Given the description of an element on the screen output the (x, y) to click on. 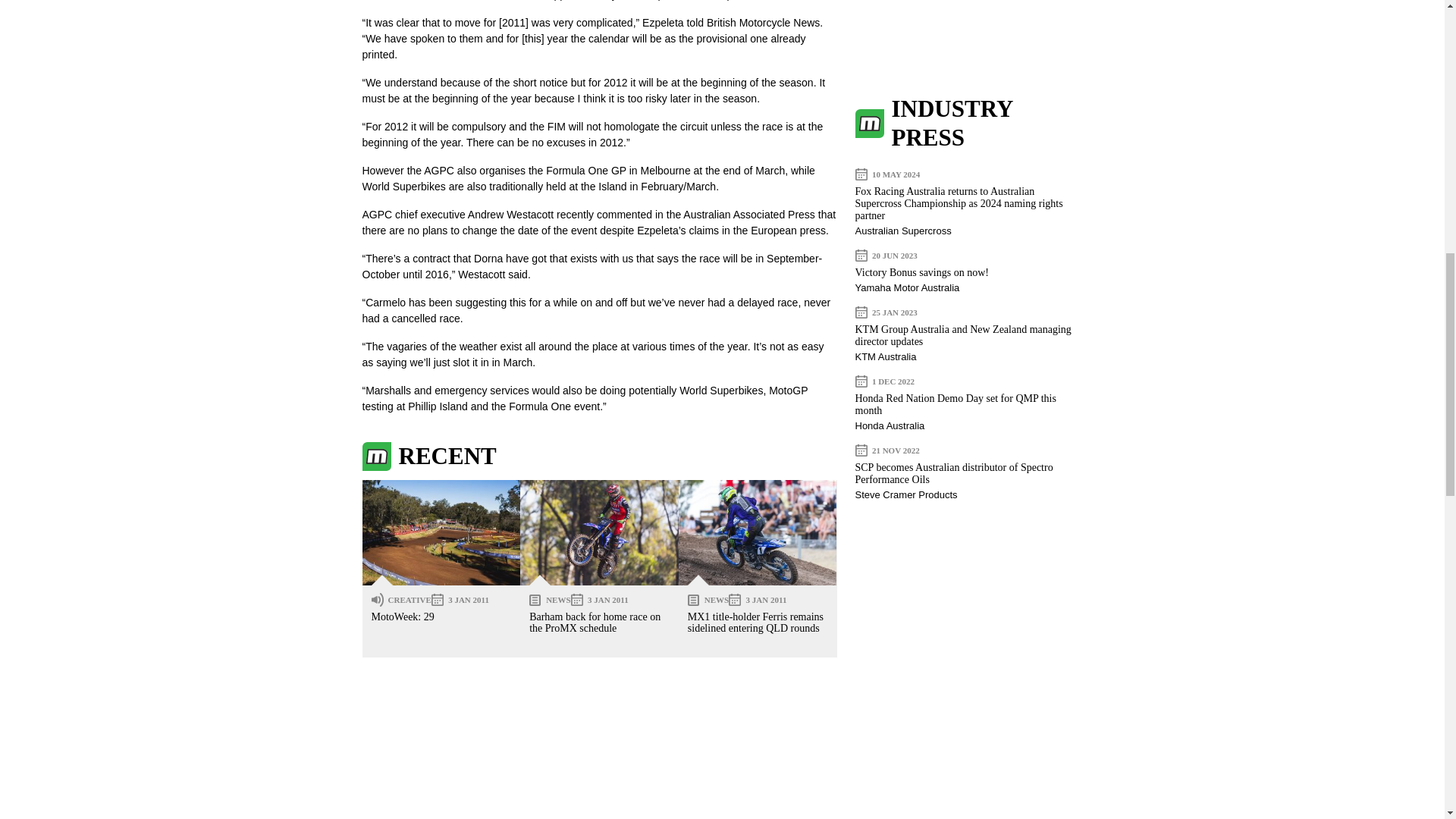
Barham back for home race on the ProMX schedule (598, 532)
MotoWeek: 29 (441, 532)
Barham back for home race on the ProMX schedule (595, 621)
MotoWeek: 29 (402, 616)
